Given the description of an element on the screen output the (x, y) to click on. 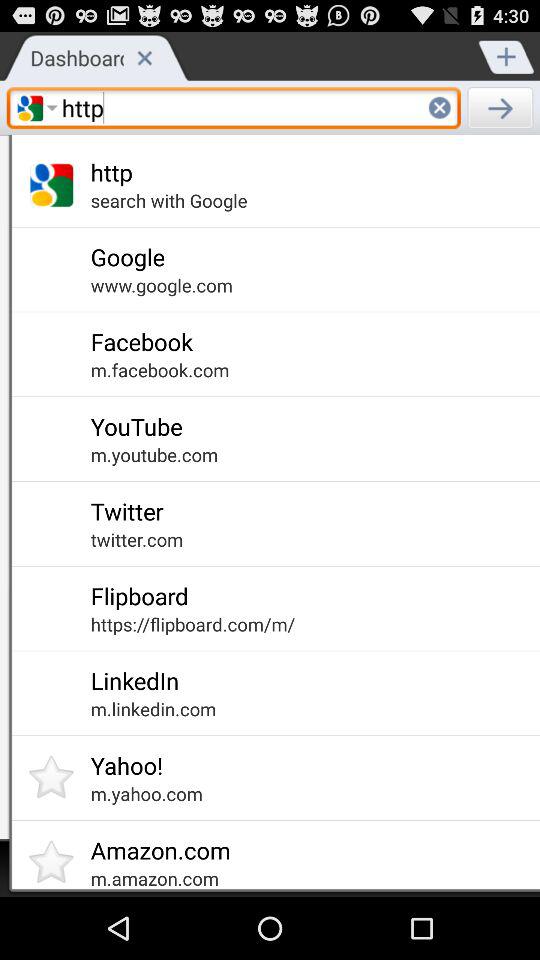
click on the text field (29, 107)
click on the first google icon in search engine (29, 107)
click on the text field (234, 107)
